Given the description of an element on the screen output the (x, y) to click on. 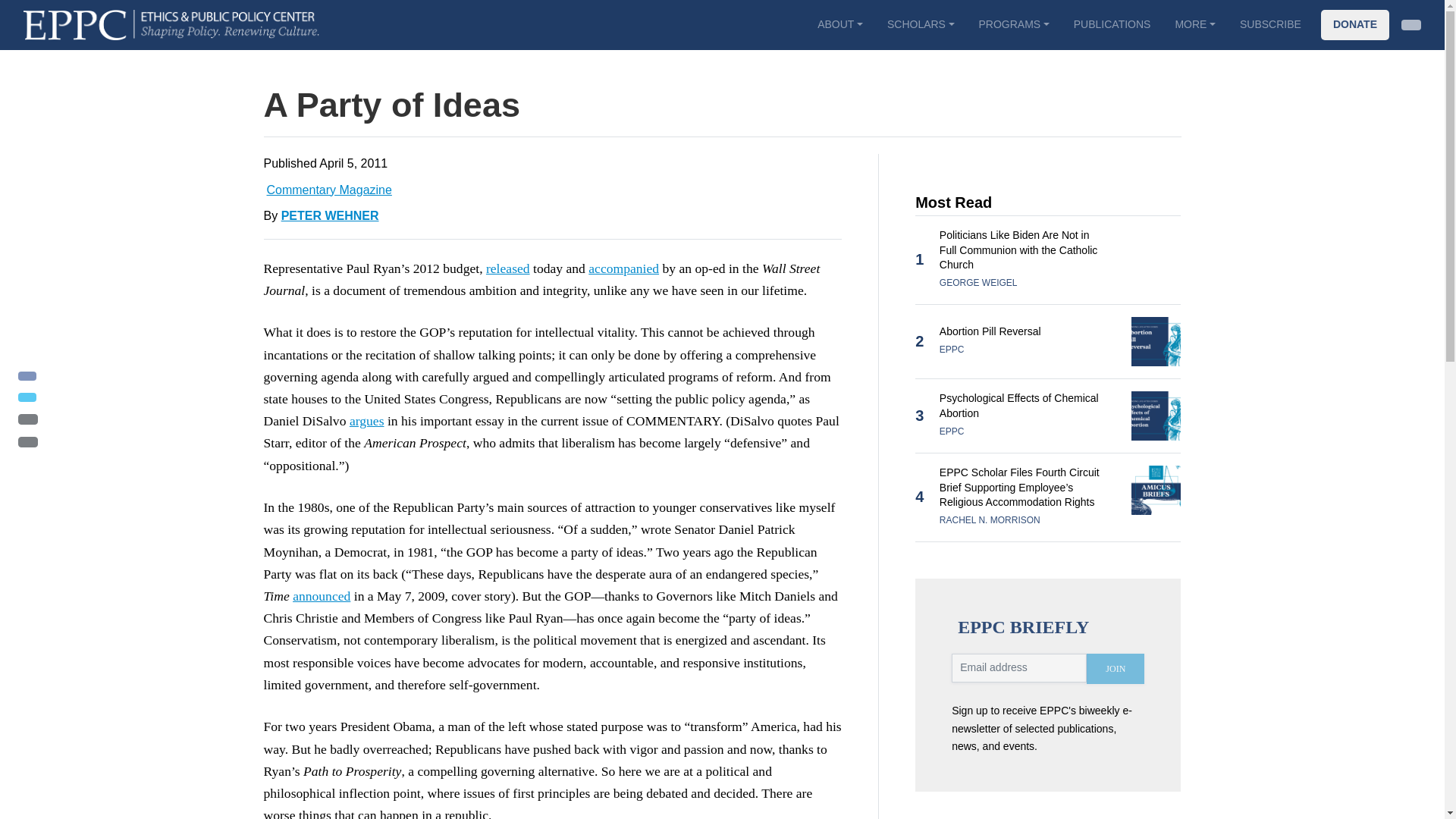
ABOUT (840, 24)
SCHOLARS (920, 24)
JOIN (1115, 668)
